Given the description of an element on the screen output the (x, y) to click on. 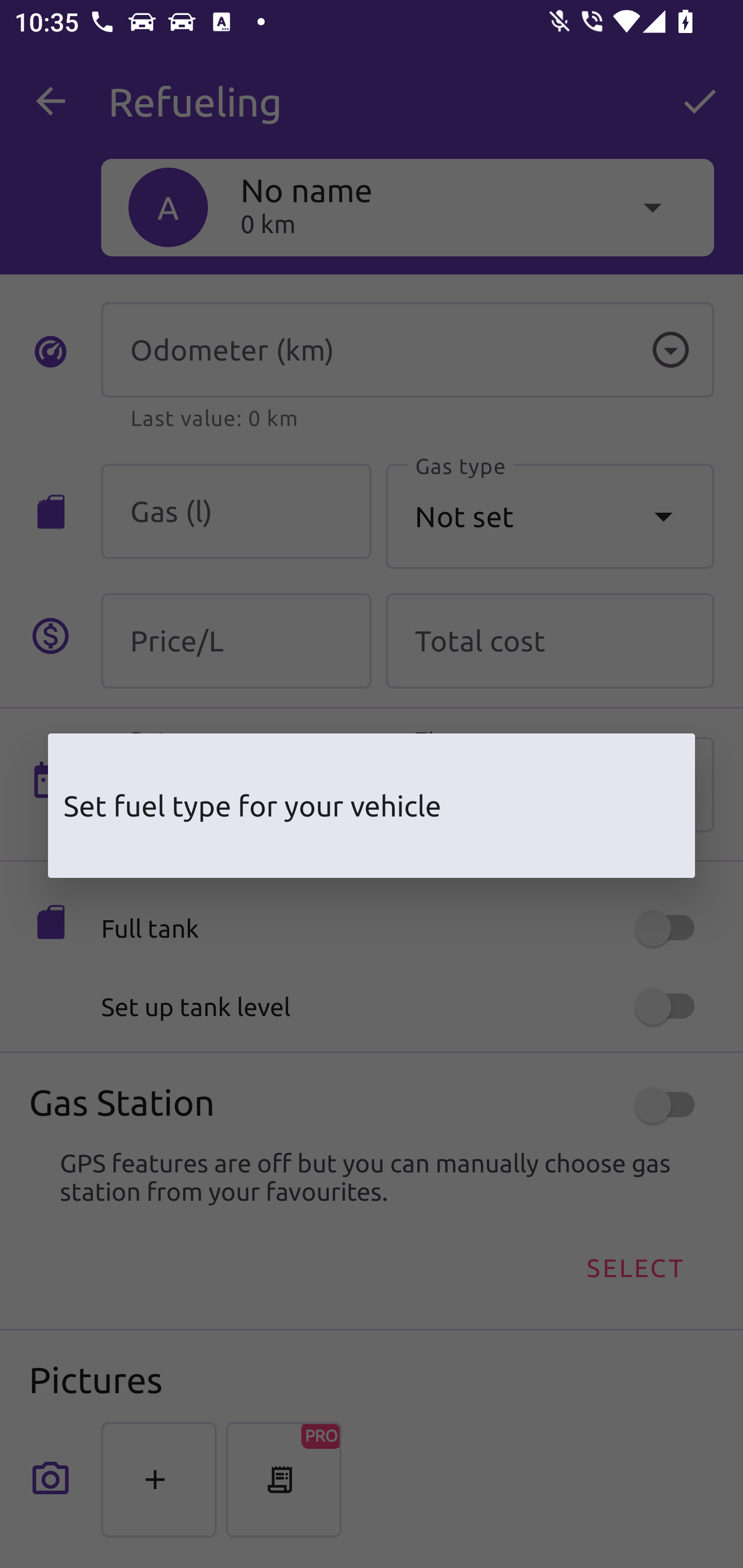
Set fuel type for your vehicle (371, 805)
